Given the description of an element on the screen output the (x, y) to click on. 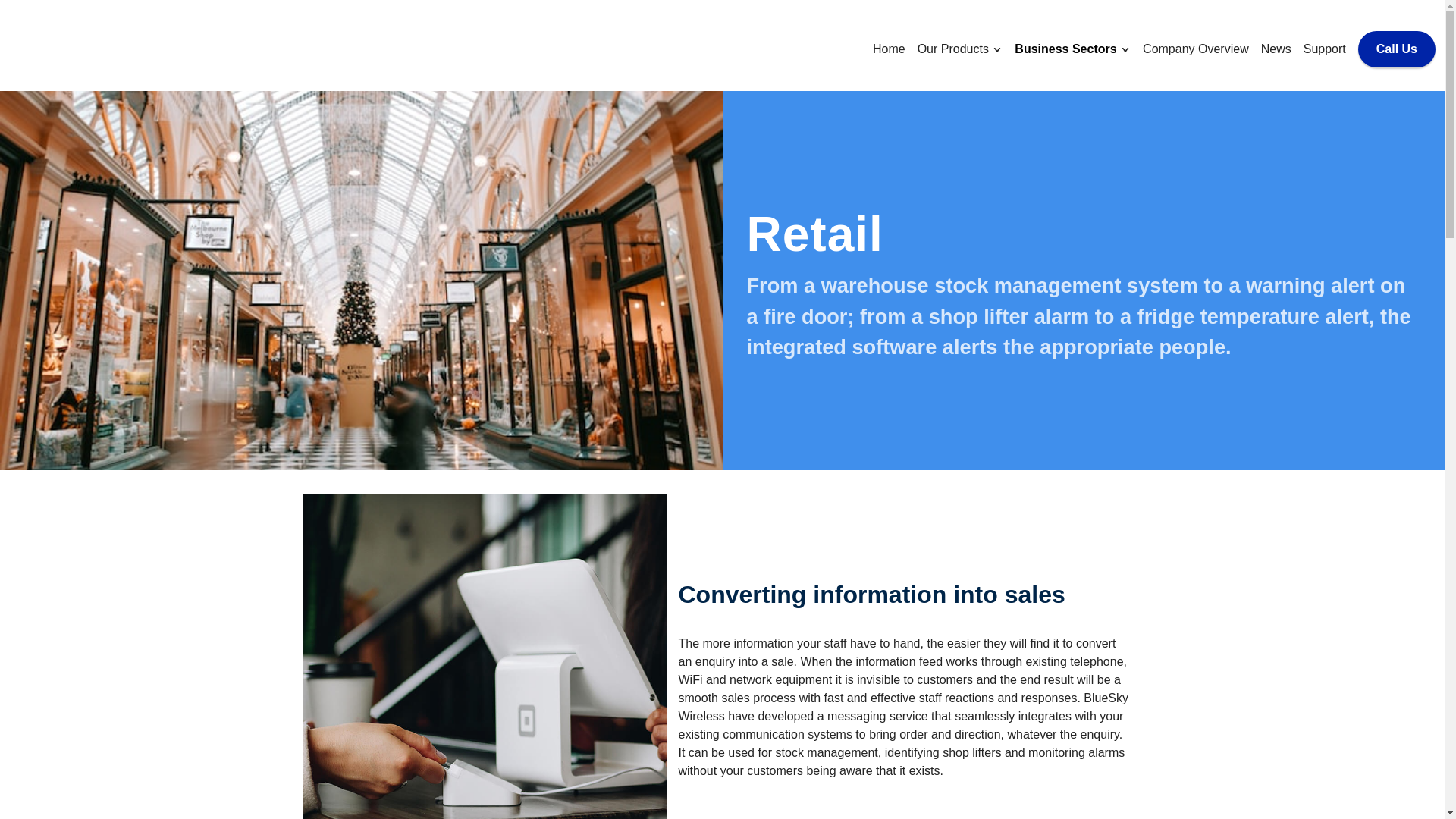
News (1275, 48)
Support (1324, 48)
Call Us (1396, 49)
Business Sectors (1066, 48)
Our Products (954, 48)
Home (888, 48)
BlueSky Wireless (84, 45)
Company Overview (1195, 48)
